Given the description of an element on the screen output the (x, y) to click on. 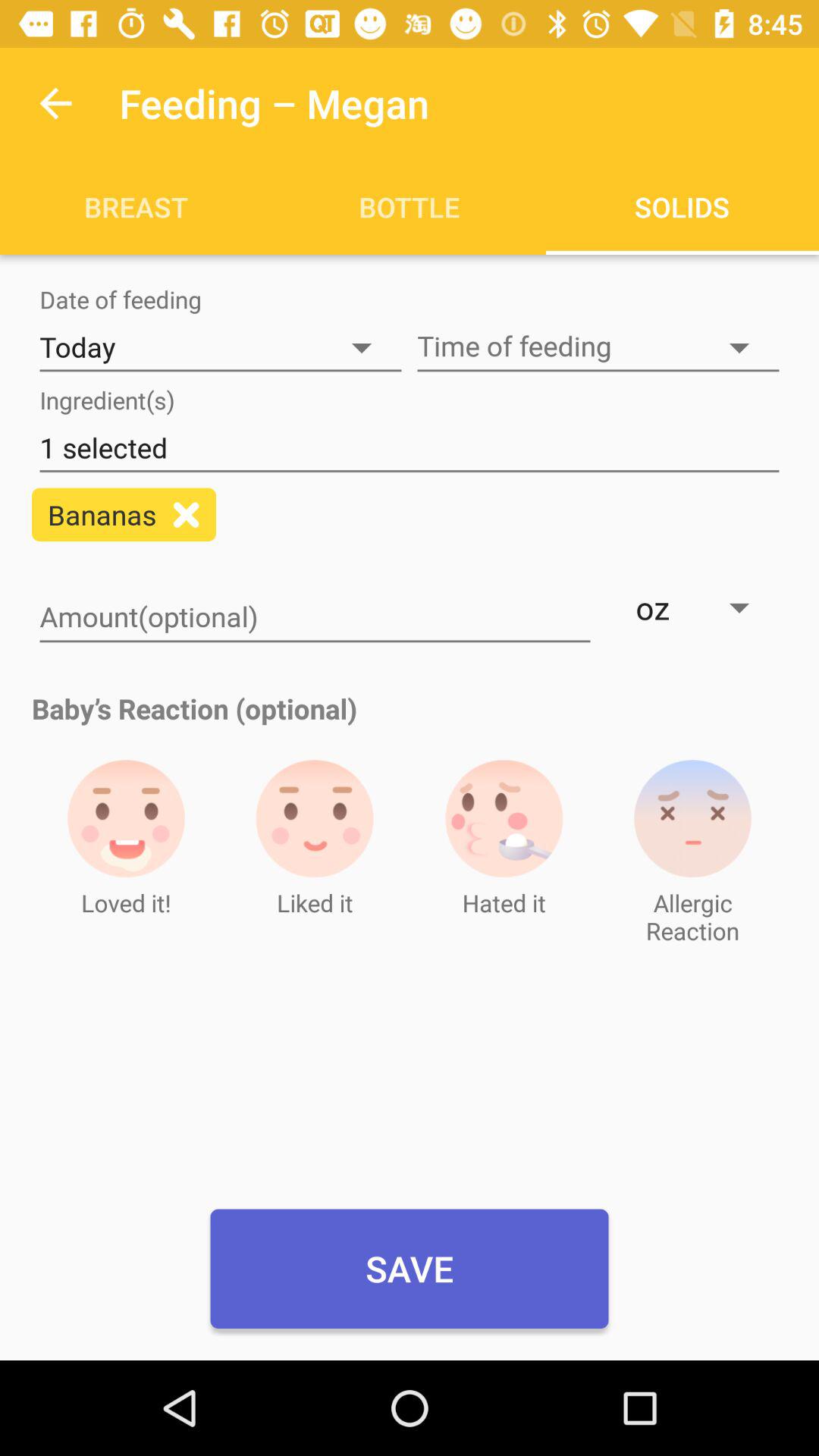
open save item (409, 1268)
